Given the description of an element on the screen output the (x, y) to click on. 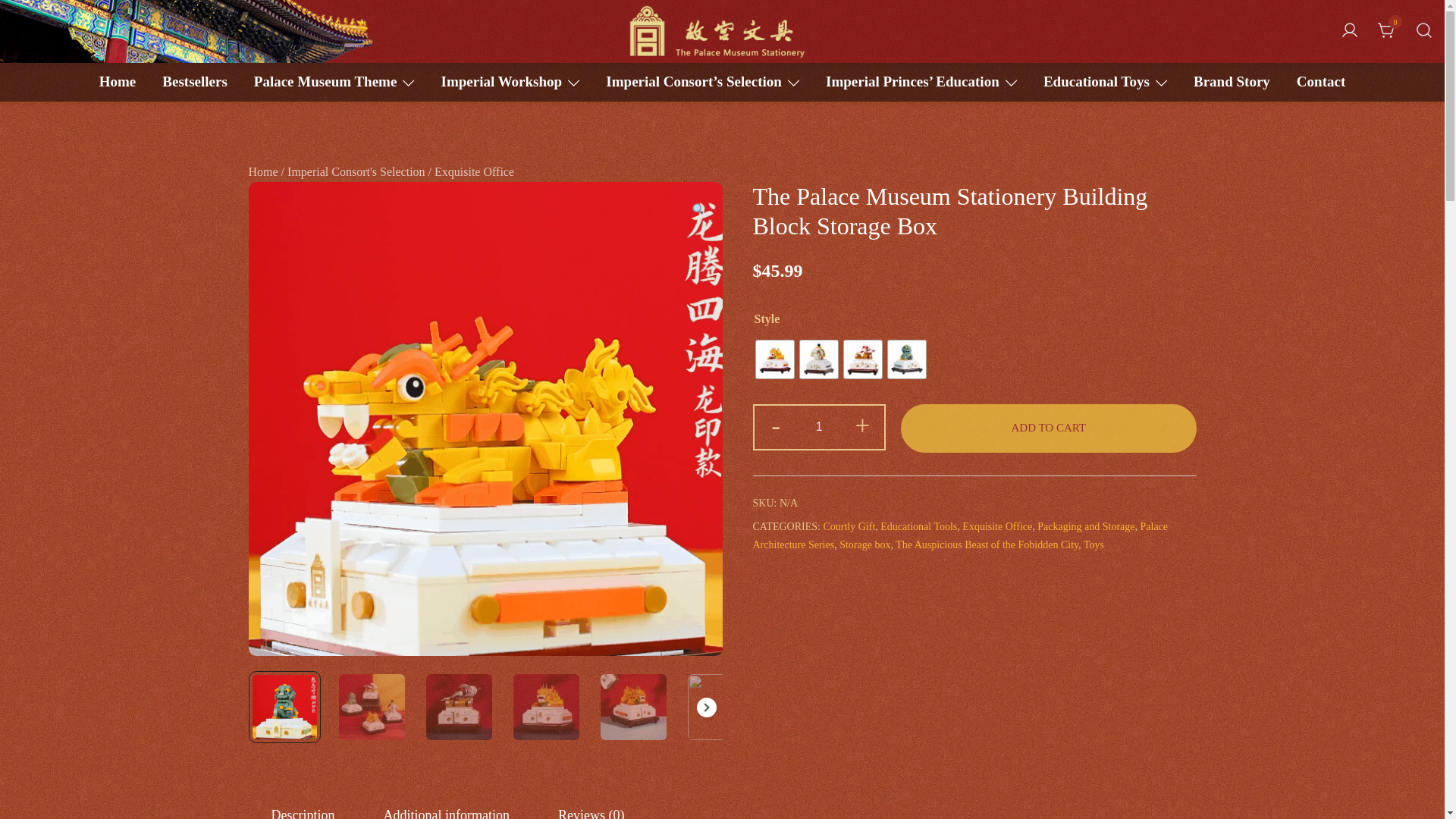
Contact (1321, 82)
Educational Toys (1096, 82)
Brand Story (1231, 82)
View your shopping cart (1386, 29)
Bestsellers (194, 82)
Home (117, 82)
Imperial Workshop (501, 82)
1 (819, 426)
Palace Museum Theme (325, 82)
0 (1386, 29)
